Given the description of an element on the screen output the (x, y) to click on. 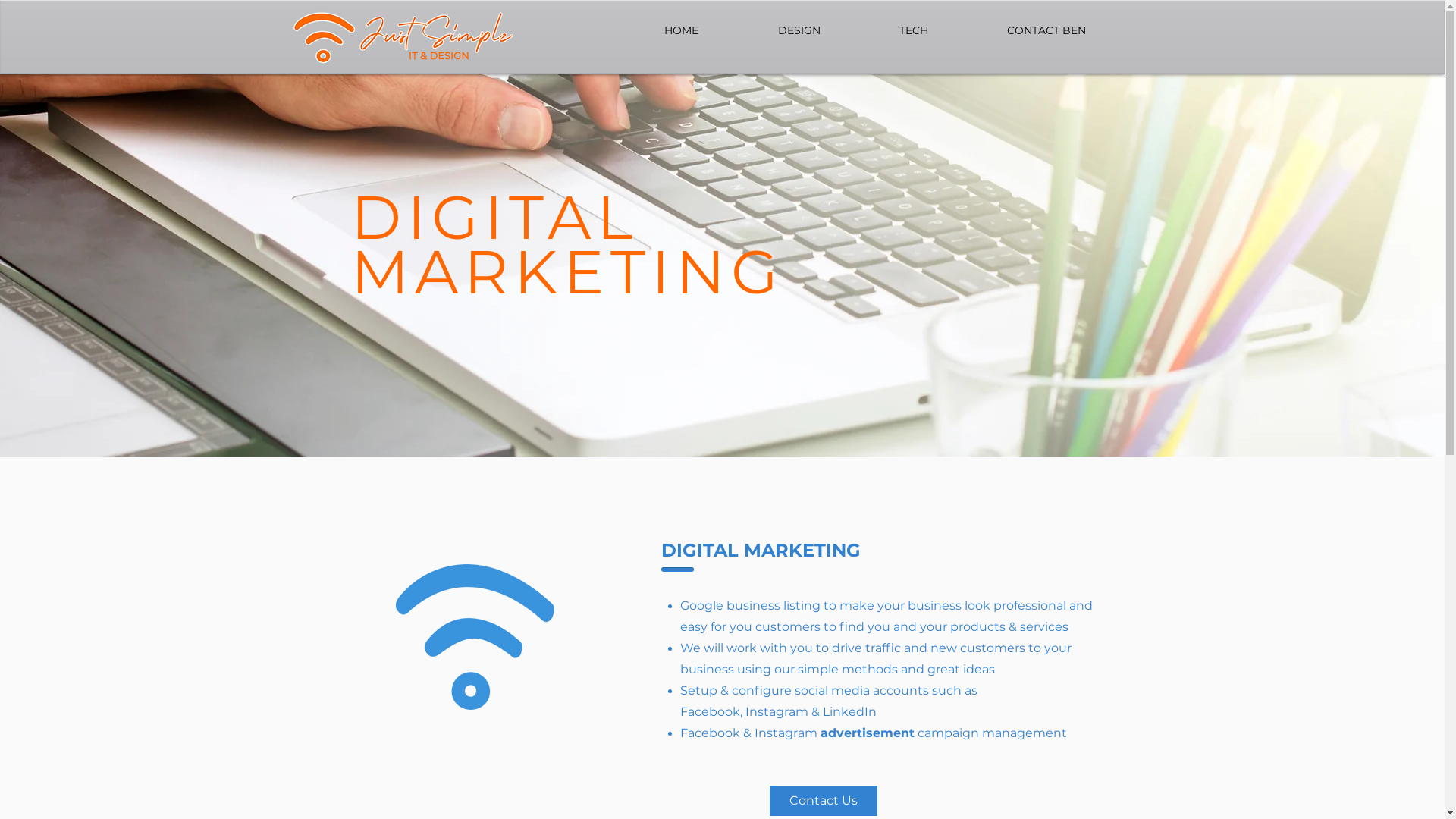
DESIGN Element type: text (767, 29)
Contact Us Element type: text (822, 800)
CONTACT BEN Element type: text (1014, 29)
HOME Element type: text (649, 29)
TECH Element type: text (881, 29)
